Given the description of an element on the screen output the (x, y) to click on. 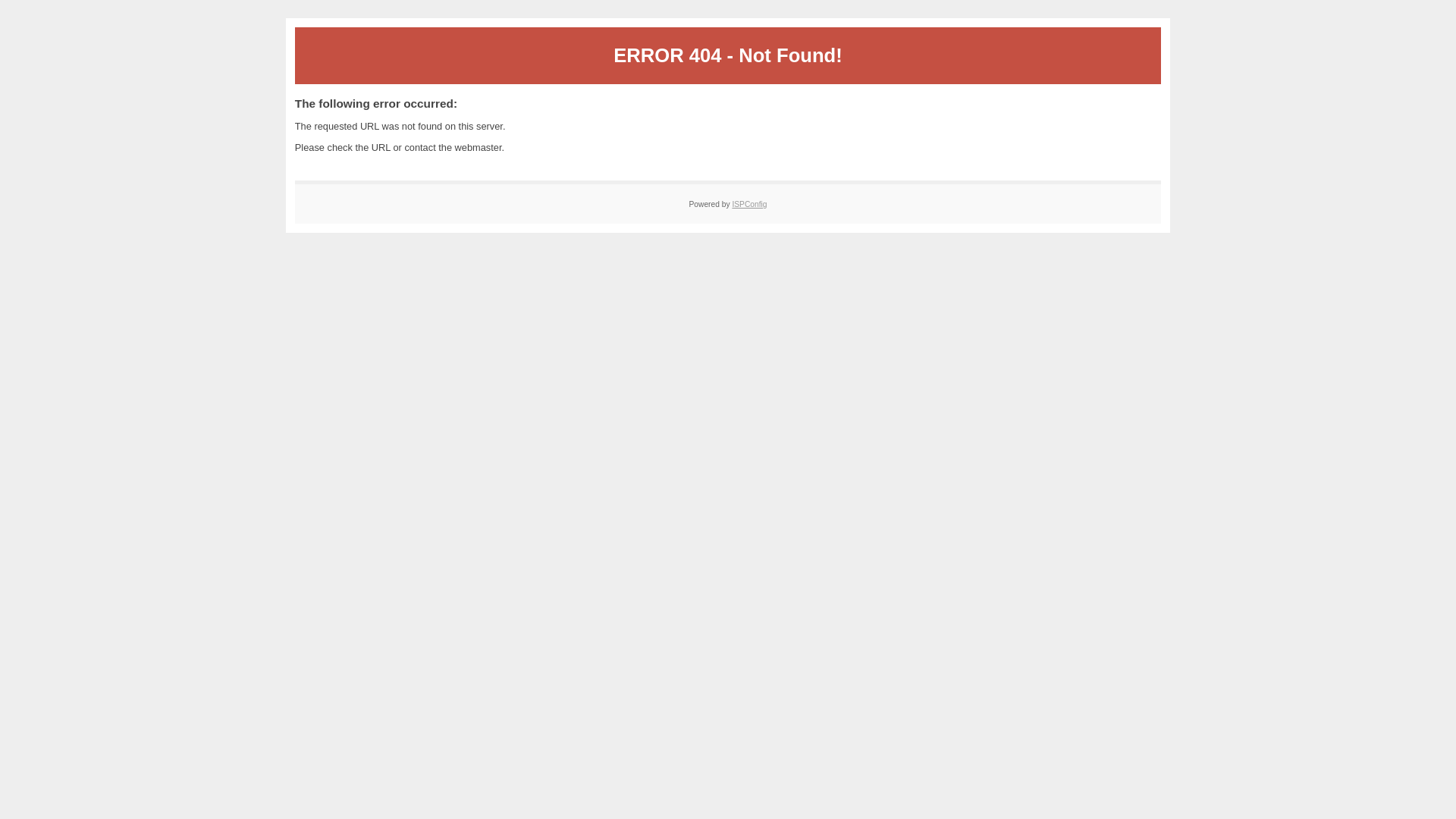
ISPConfig Element type: text (748, 204)
